Given the description of an element on the screen output the (x, y) to click on. 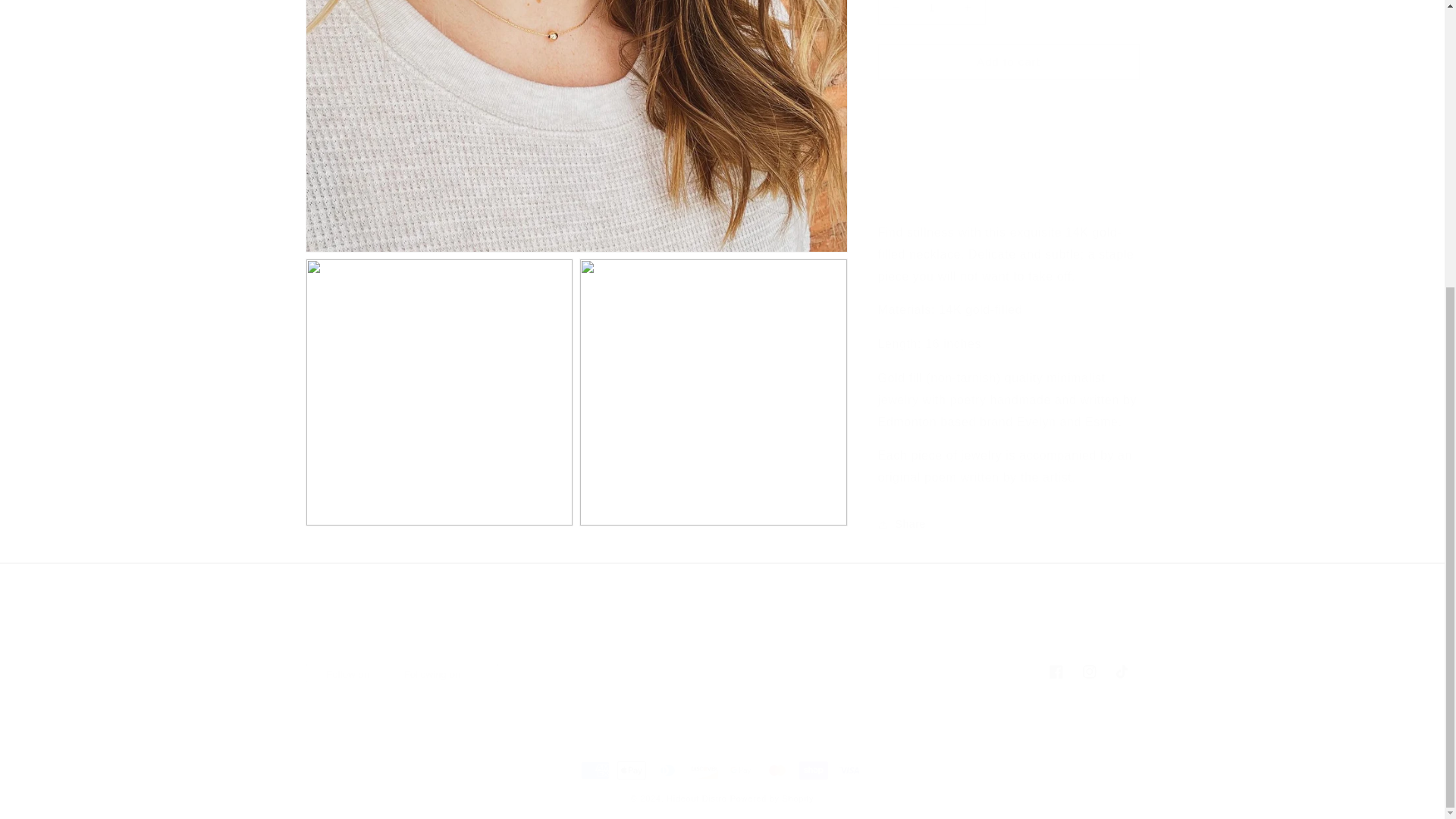
Open media 3 in modal (721, 671)
Home Shop Policies About Contact Stockists (713, 377)
Open media 2 in modal (721, 619)
Open media 1 in modal (438, 377)
Home Shop Policies About Contact Stockists (575, 118)
